Given the description of an element on the screen output the (x, y) to click on. 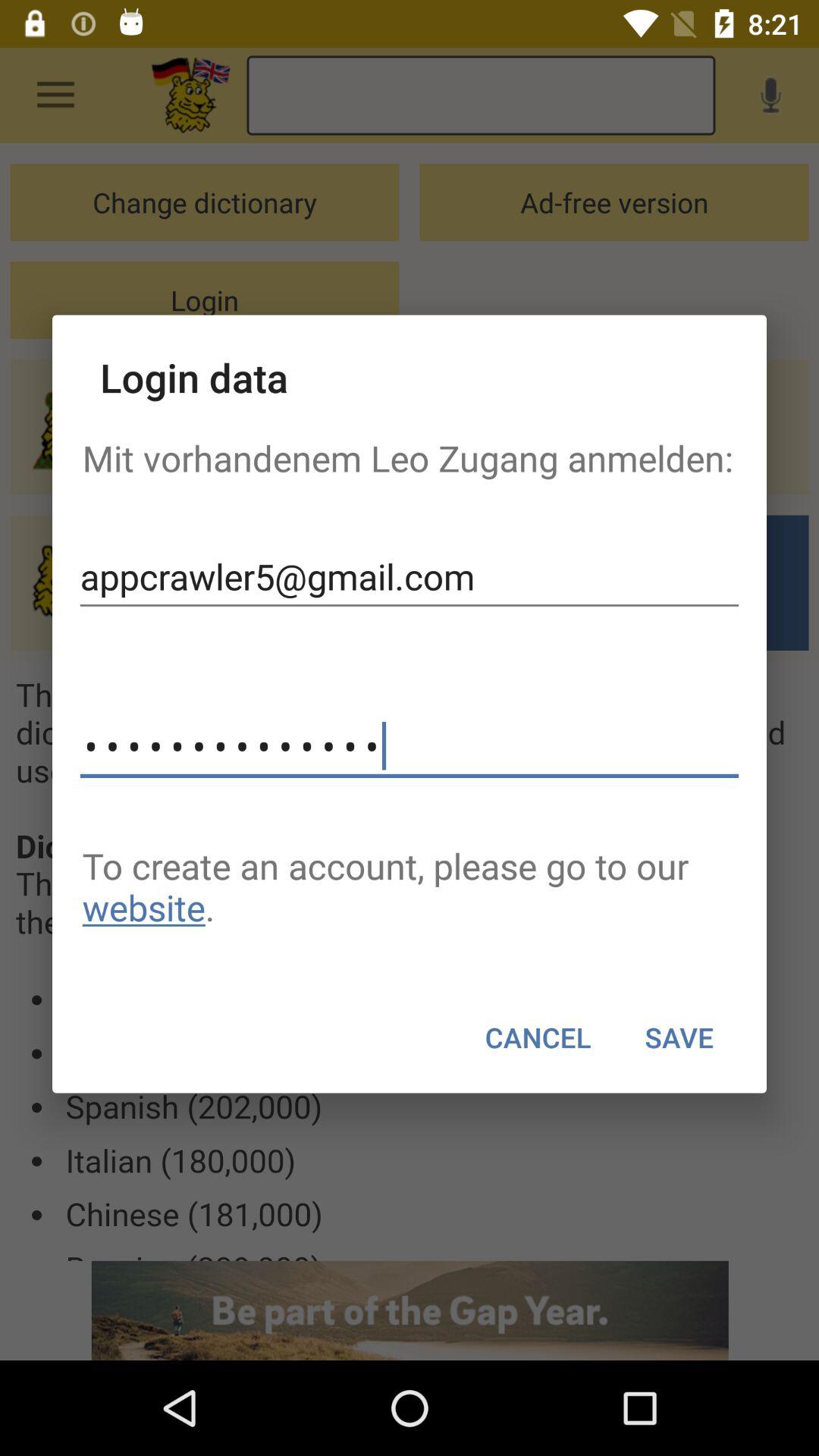
launch item above the appcrawler3116 (409, 577)
